Given the description of an element on the screen output the (x, y) to click on. 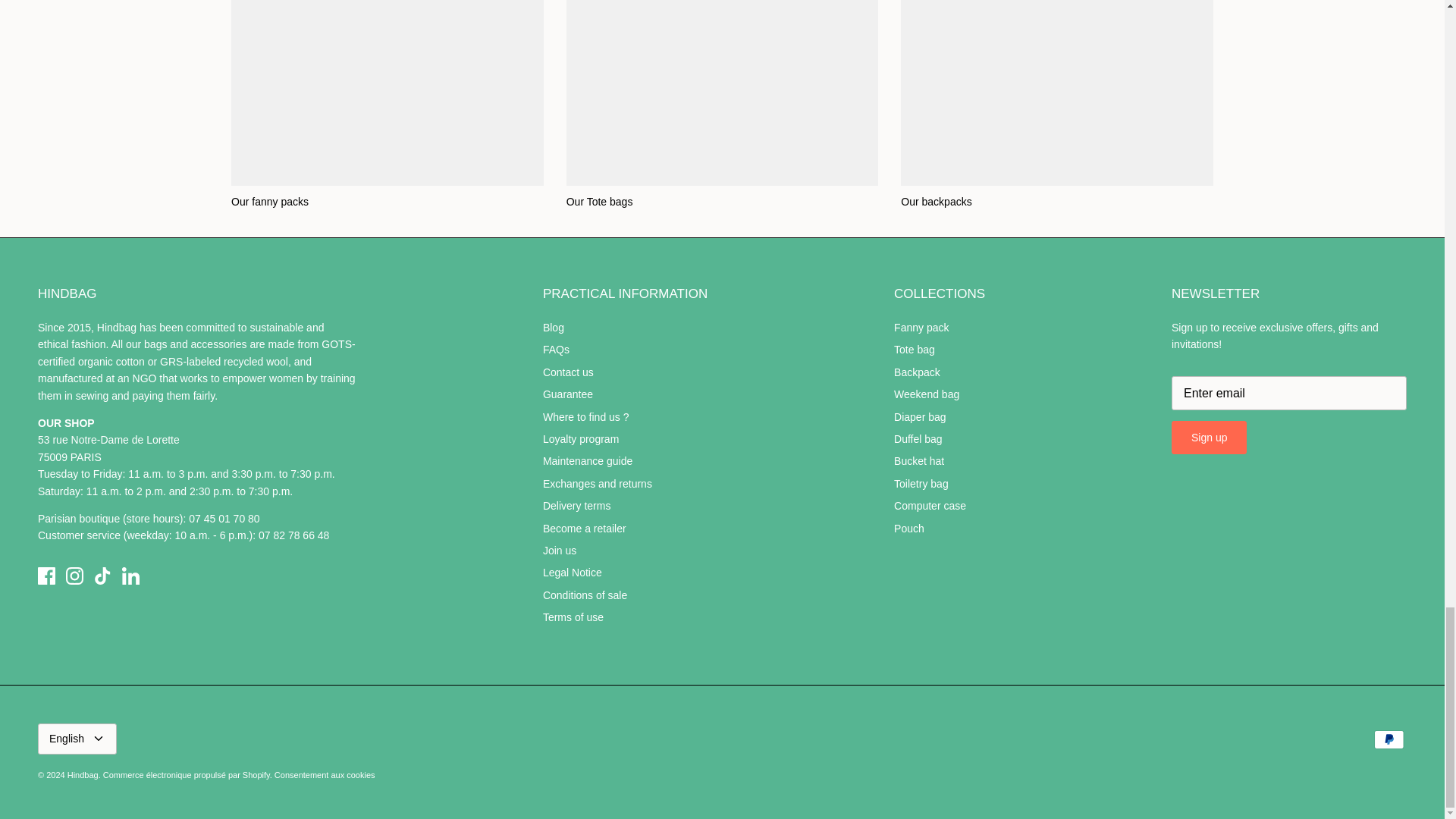
Facebook (46, 575)
